Given the description of an element on the screen output the (x, y) to click on. 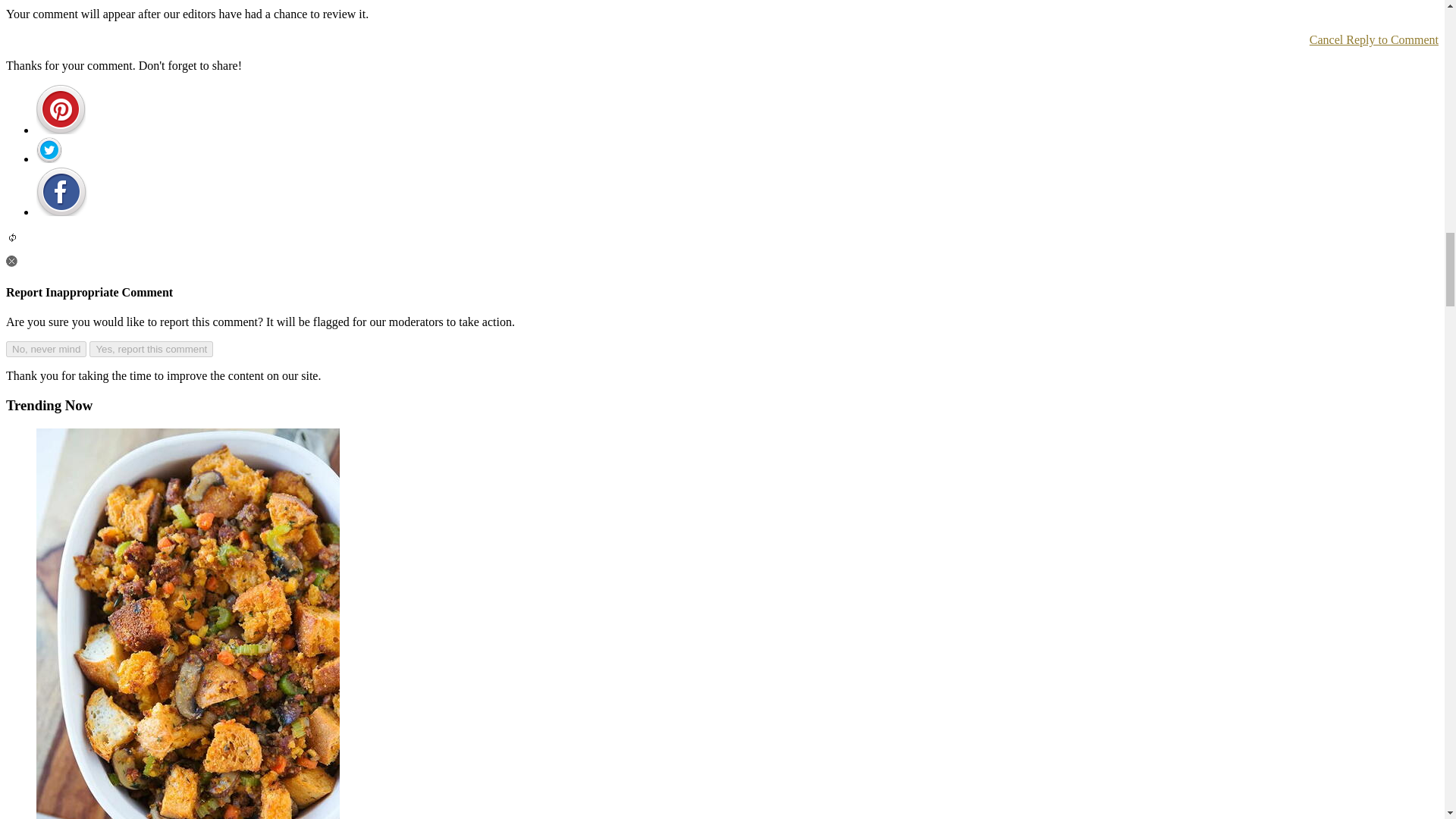
Pin It (61, 191)
No, never mind (45, 349)
Yes, report this comment (150, 349)
Pin It (60, 109)
